Given the description of an element on the screen output the (x, y) to click on. 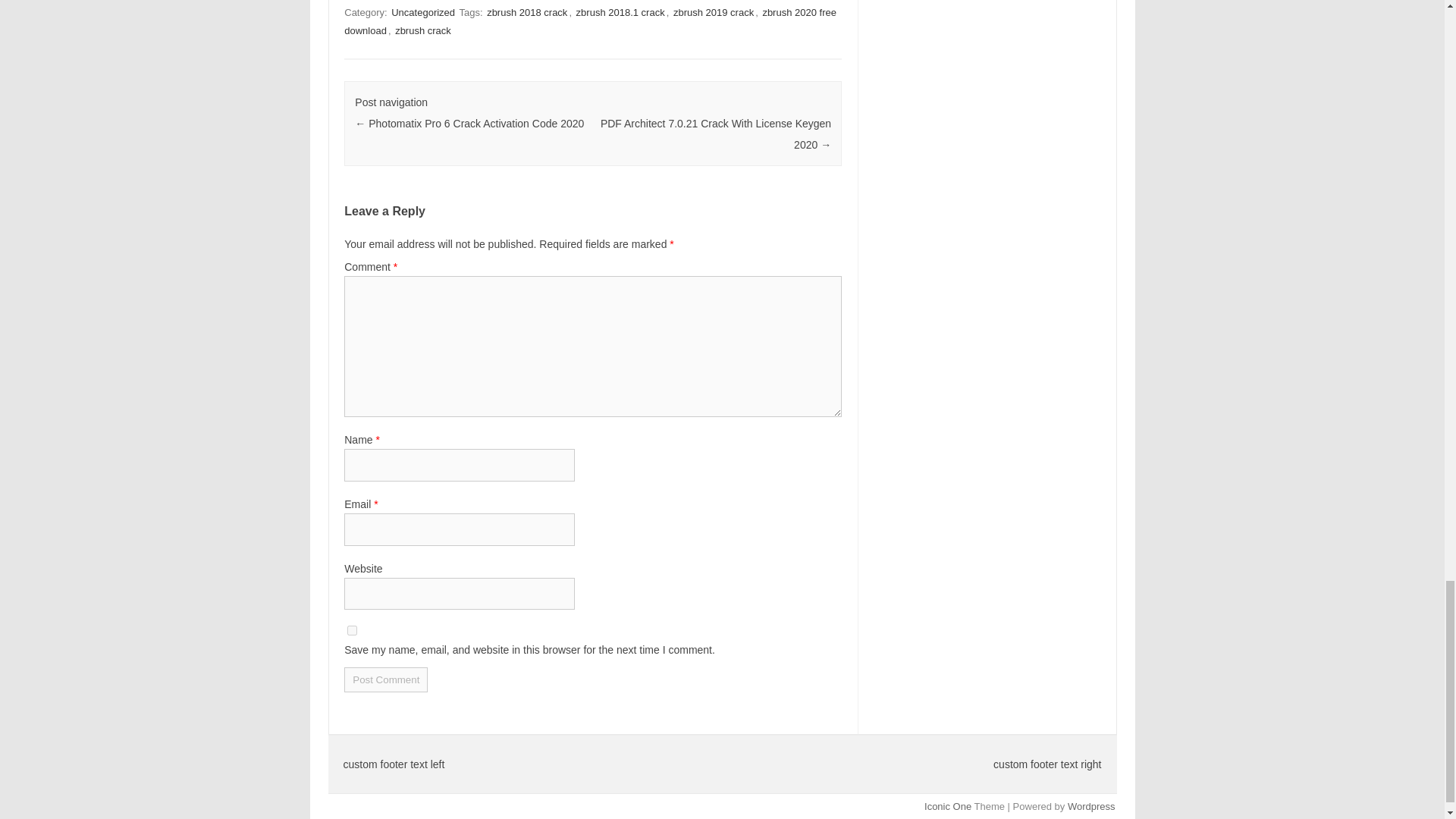
Iconic One (947, 806)
yes (351, 630)
zbrush 2018 crack (526, 11)
Uncategorized (423, 11)
zbrush 2020 free download (589, 20)
zbrush crack (422, 30)
Post Comment (385, 679)
zbrush 2019 crack (713, 11)
zbrush 2018.1 crack (620, 11)
Post Comment (385, 679)
